Given the description of an element on the screen output the (x, y) to click on. 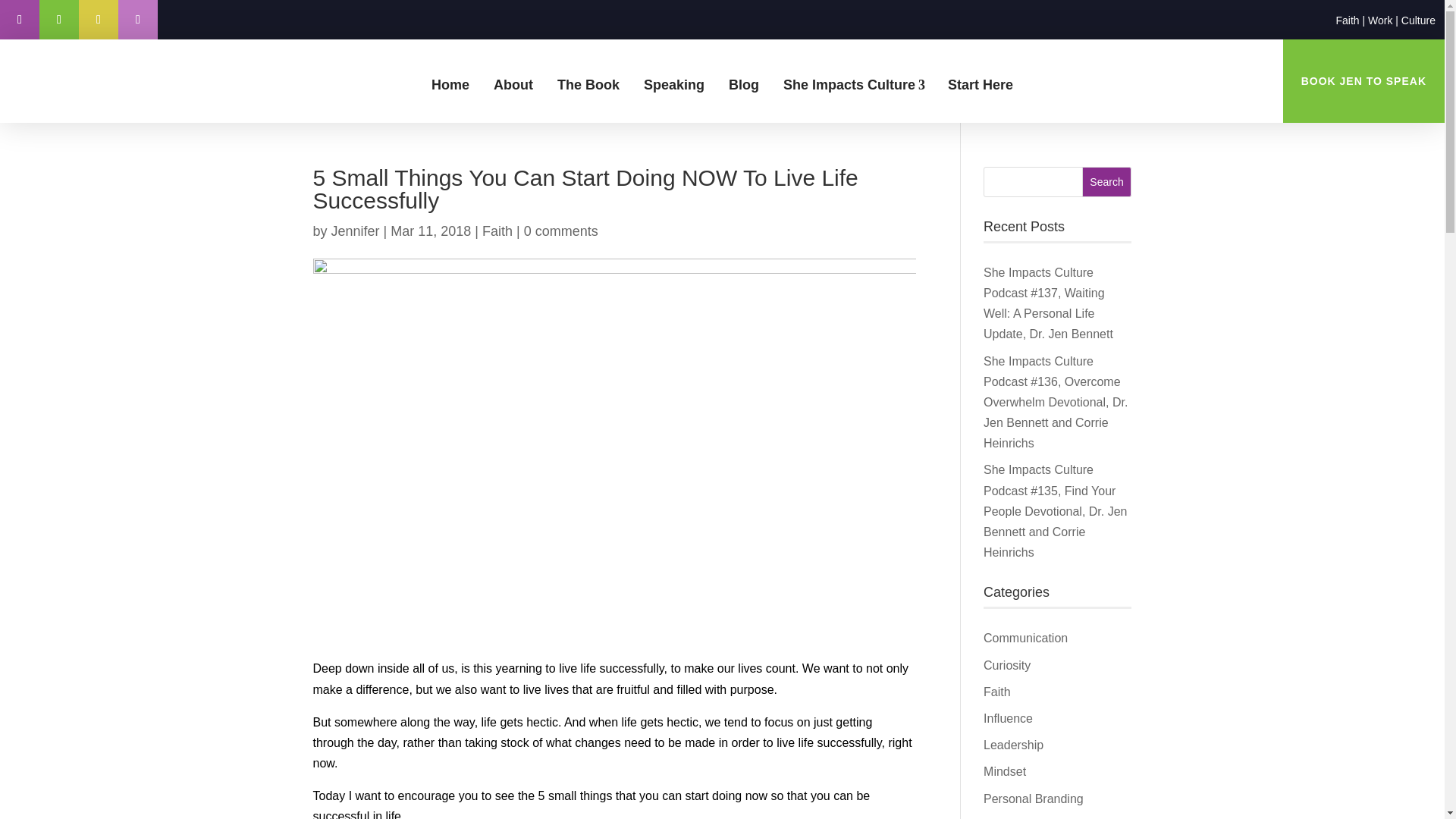
Curiosity (1007, 665)
Posts by Jennifer (355, 231)
Jennifer (355, 231)
Faith (496, 231)
Leadership (1013, 744)
The Book (587, 85)
Follow on X (58, 19)
Mindset (1005, 771)
Search (1106, 182)
About (512, 85)
